Given the description of an element on the screen output the (x, y) to click on. 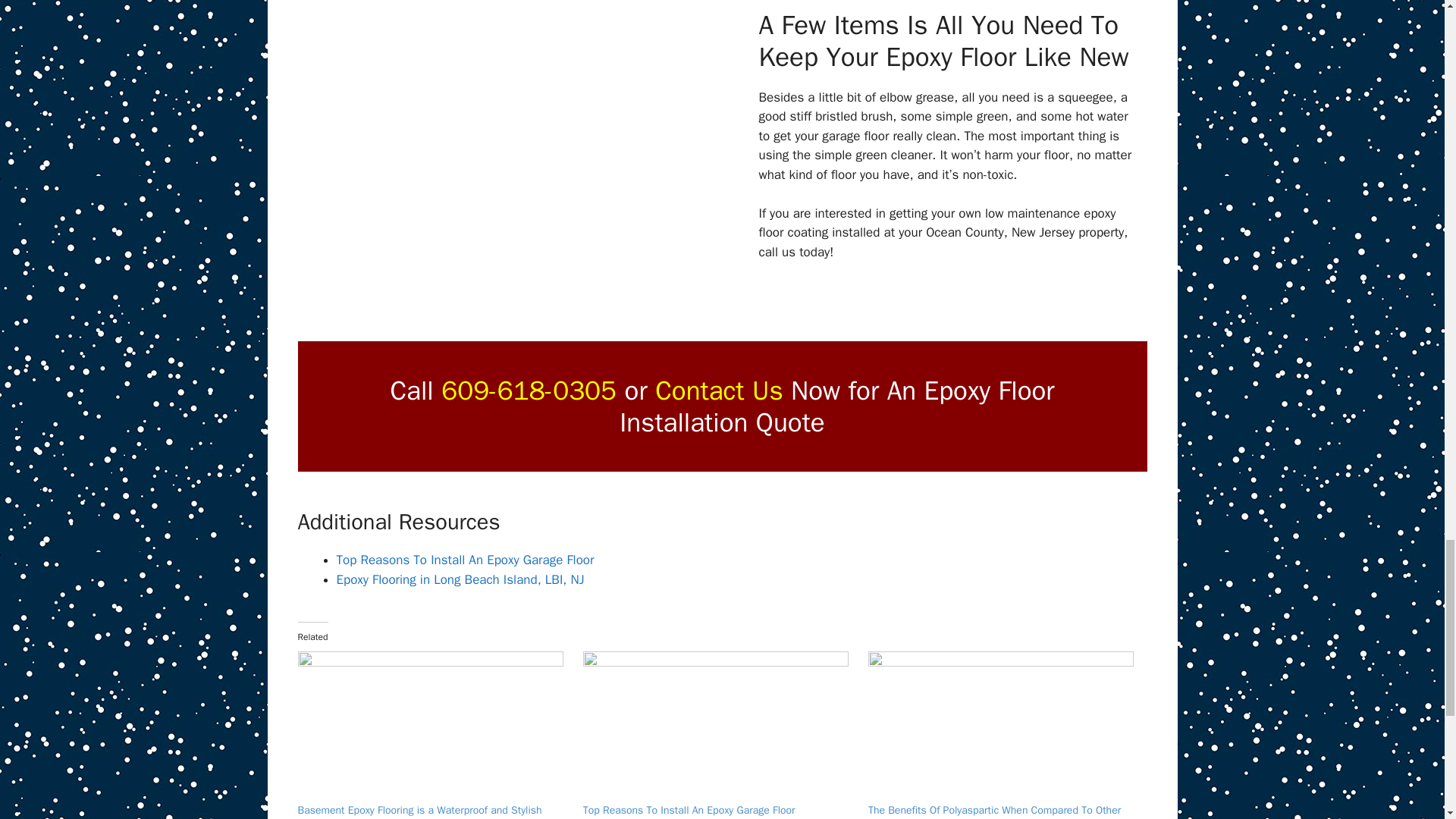
Basement Epoxy Flooring is a Waterproof and Stylish Option (432, 727)
Basement Epoxy Flooring is a Waterproof and Stylish Option (419, 811)
609-618-0305 (528, 390)
Top Reasons To Install An Epoxy Garage Floor (688, 809)
Contact Us (719, 390)
Top Reasons To Install An Epoxy Garage Floor (465, 560)
Epoxy Flooring in Long Beach Island, LBI, NJ (460, 579)
